Given the description of an element on the screen output the (x, y) to click on. 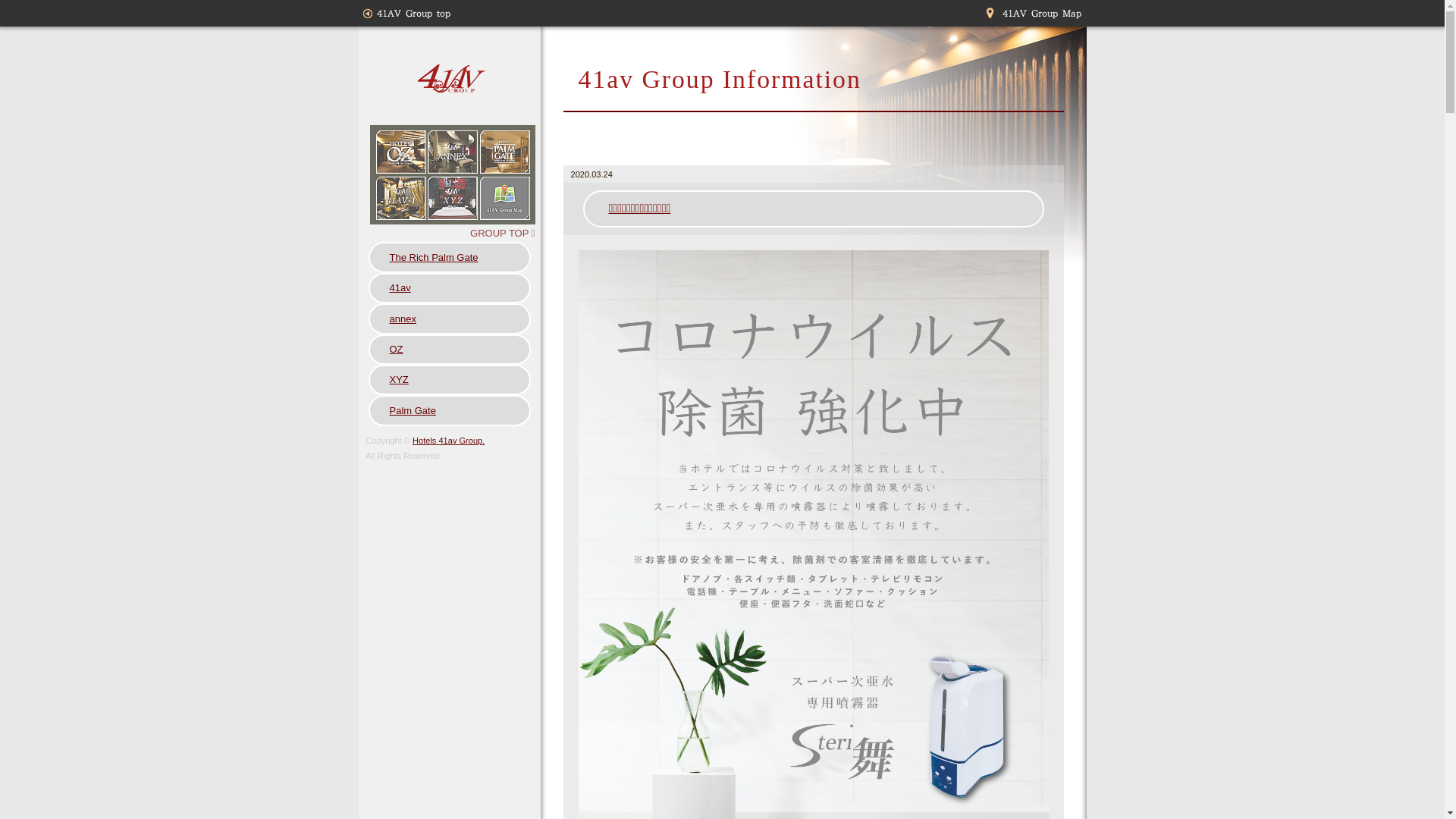
annex Element type: text (449, 318)
XYZ Element type: text (449, 379)
The Rich Palm Gate Element type: text (449, 256)
Palm Gate Element type: text (449, 410)
OZ Element type: text (449, 349)
Hotels 41av Group. Element type: text (448, 440)
41av Element type: text (449, 288)
